Given the description of an element on the screen output the (x, y) to click on. 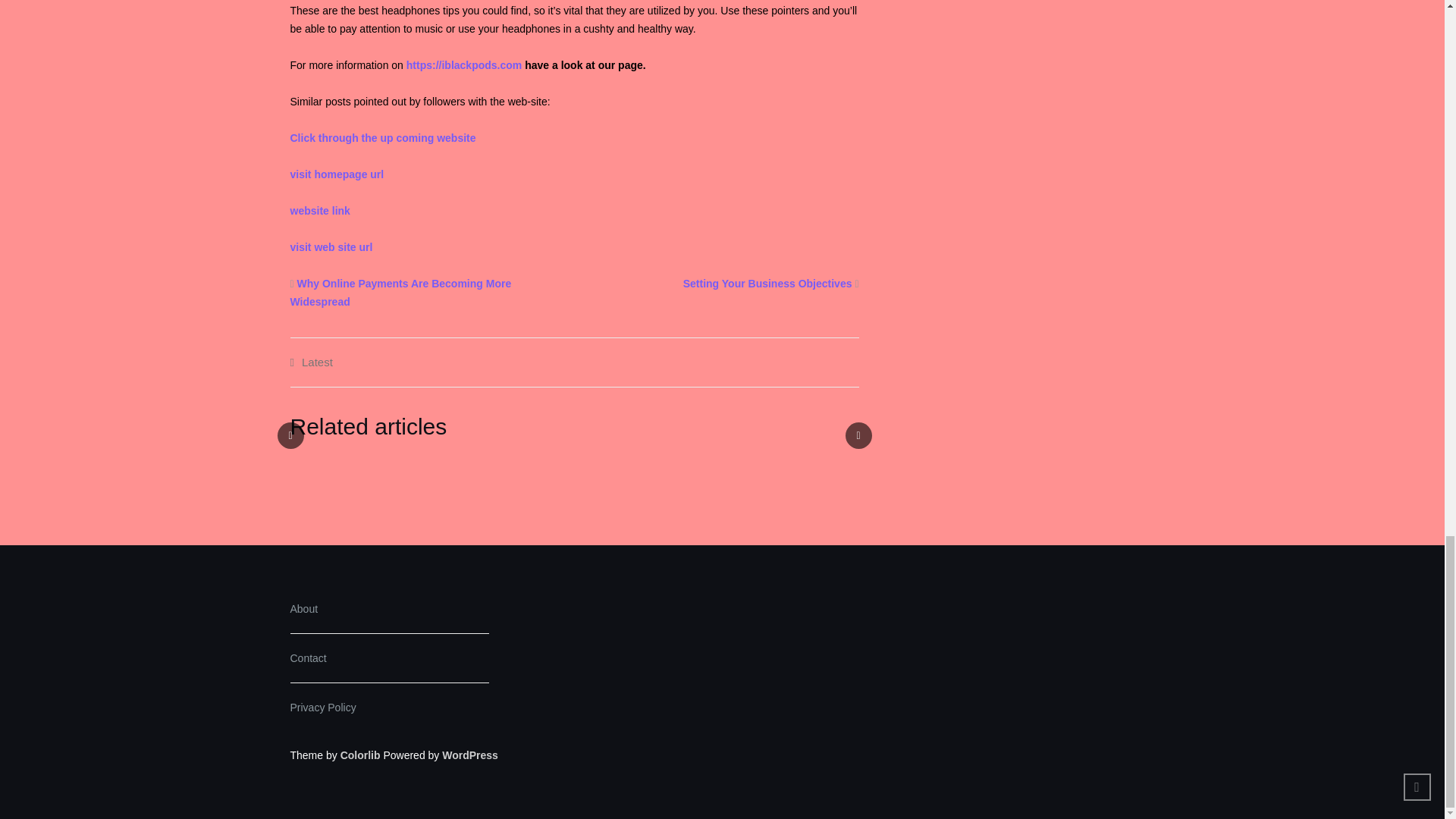
Latest (317, 361)
WordPress.org (469, 755)
Setting Your Business Objectives (766, 283)
website link (319, 210)
Click through the up coming website (382, 137)
Colorlib (360, 755)
visit web site url (330, 246)
visit homepage url (336, 174)
Why Online Payments Are Becoming More Widespread (400, 292)
